Given the description of an element on the screen output the (x, y) to click on. 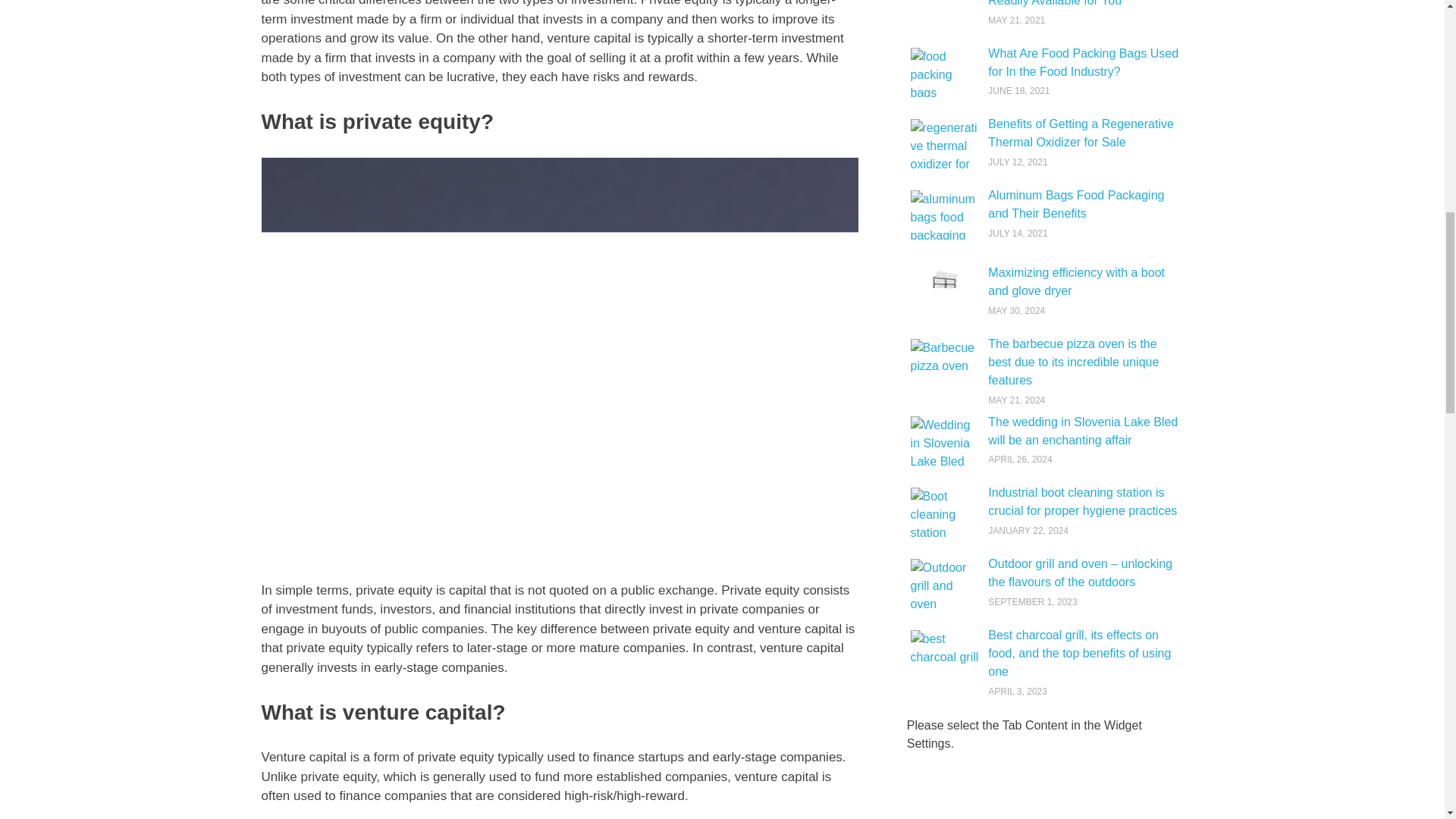
Aluminum Bags Food Packaging and Their Benefits (1075, 204)
Stainless Steel Eurobins Now Readily Available for You (1067, 3)
Stainless Steel Eurobins Now Readily Available for You 6 (944, 13)
What Are Food Packing Bags Used for In the Food Industry? (1082, 61)
Benefits of Getting a Regenerative Thermal Oxidizer for Sale (1080, 132)
